Given the description of an element on the screen output the (x, y) to click on. 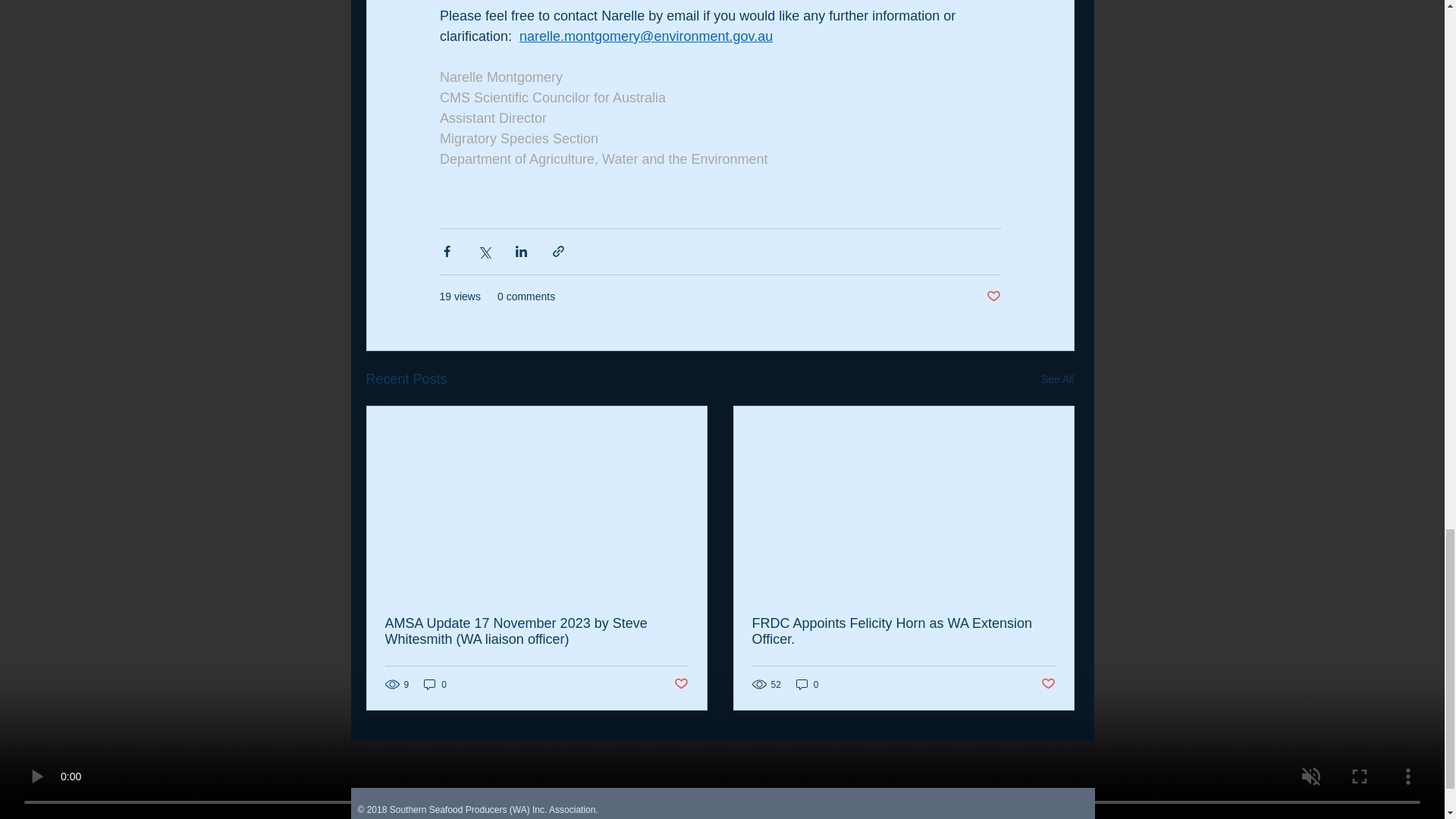
Post not marked as liked (679, 684)
See All (1057, 379)
0 (435, 684)
Post not marked as liked (992, 296)
0 (807, 684)
Post not marked as liked (1047, 684)
FRDC Appoints Felicity Horn as WA Extension Officer. (903, 631)
